Given the description of an element on the screen output the (x, y) to click on. 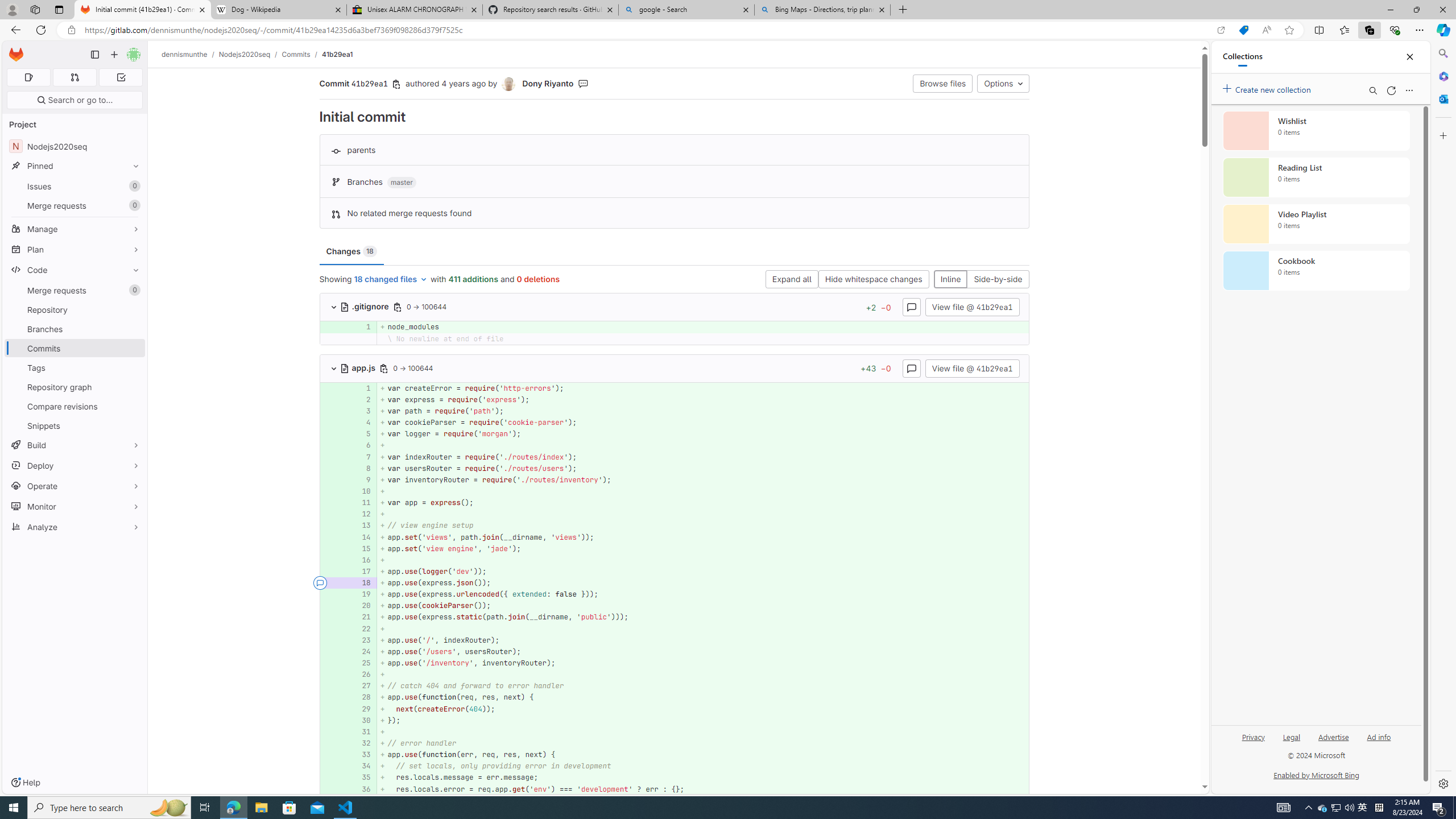
AutomationID: 4a68969ef8e858229267b842dedf42ab5dde4d50_0_26 (674, 674)
Search (1442, 53)
Nodejs2020seq/ (250, 53)
Repository graph (74, 386)
AutomationID: 4a68969ef8e858229267b842dedf42ab5dde4d50_0_13 (674, 525)
Advertise (1333, 741)
AutomationID: 4a68969ef8e858229267b842dedf42ab5dde4d50_0_20 (674, 605)
16 (360, 559)
More options menu (1409, 90)
Settings (1442, 783)
Copy file path (384, 368)
dennismunthe/ (189, 53)
Copy commit SHA (396, 83)
Personal Profile (12, 9)
